Given the description of an element on the screen output the (x, y) to click on. 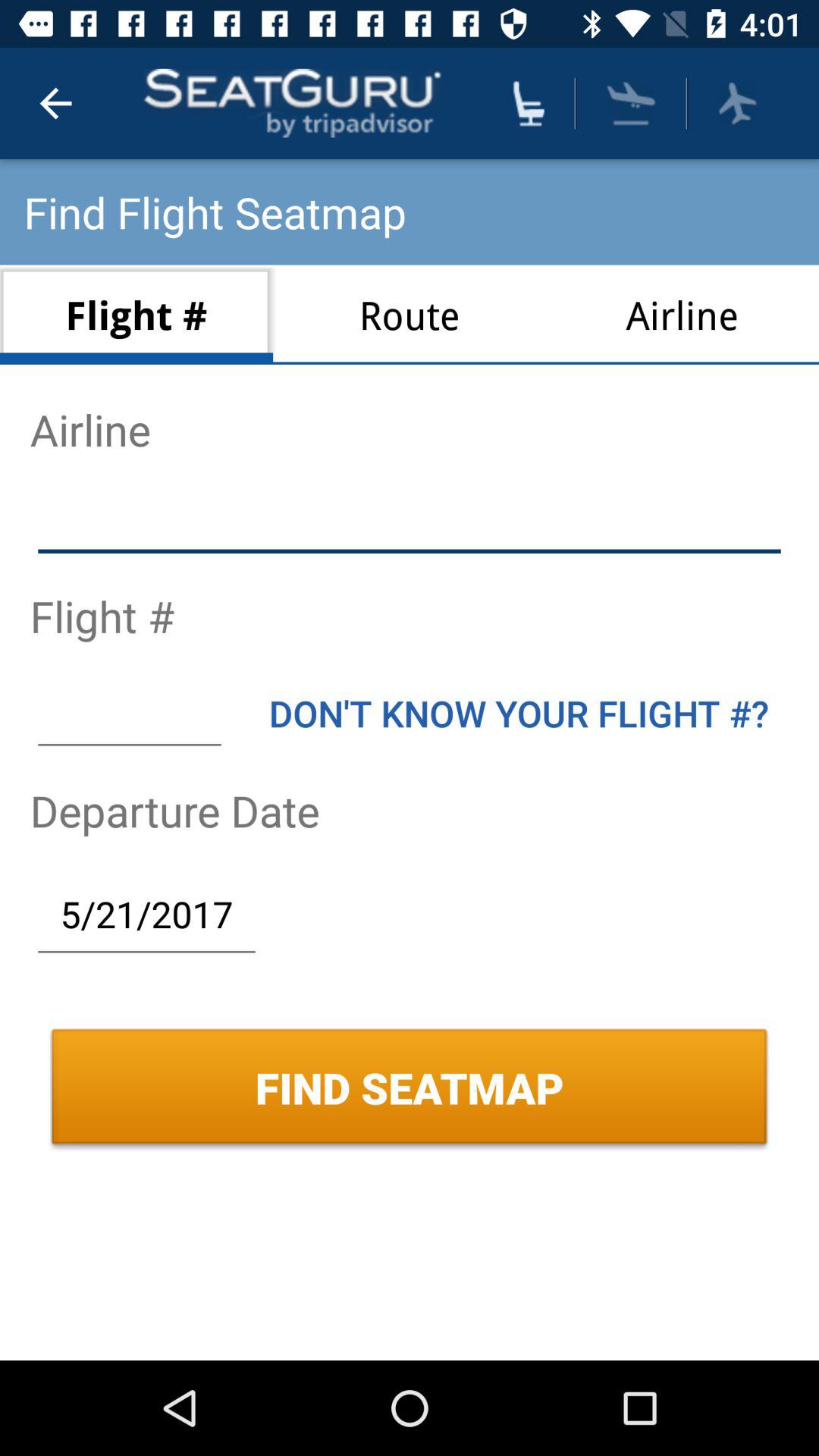
show all seatmaps (528, 103)
